Given the description of an element on the screen output the (x, y) to click on. 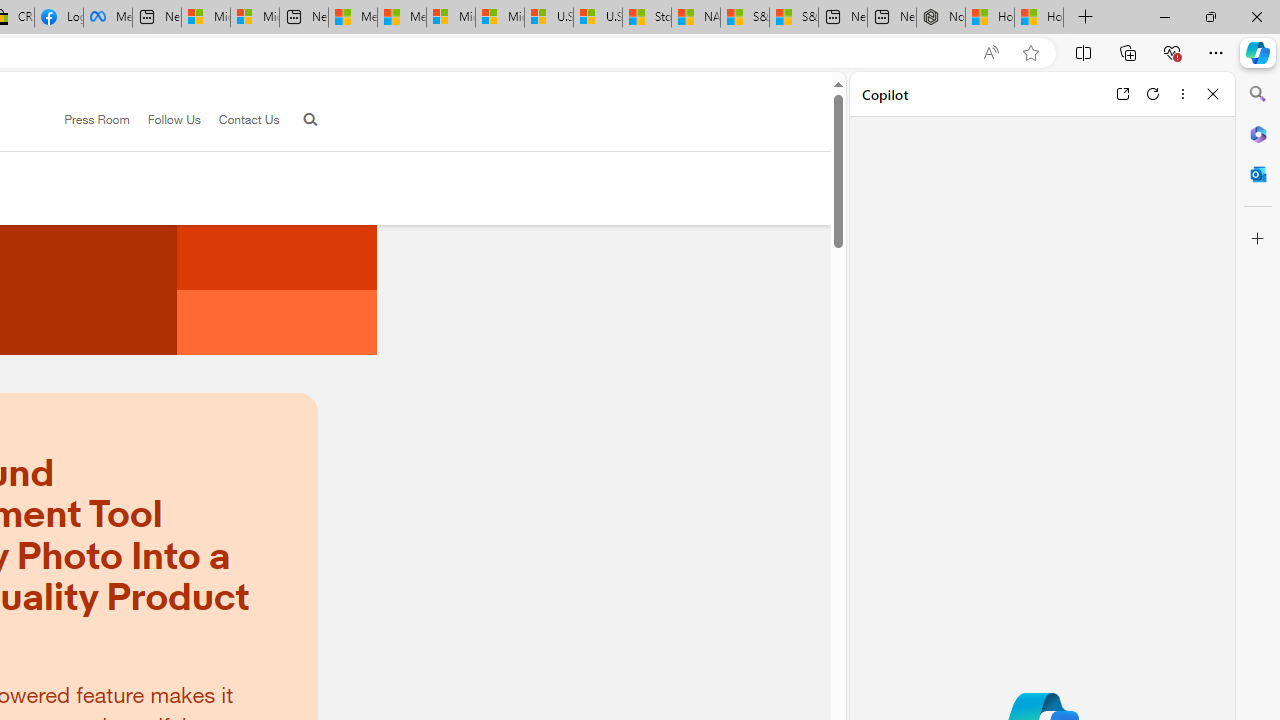
Contact Us (239, 120)
Contact Us (248, 119)
Follow Us (173, 119)
Open link in new tab (1122, 93)
S&P 500, Nasdaq end lower, weighed by Nvidia dip | Watch (793, 17)
